Given the description of an element on the screen output the (x, y) to click on. 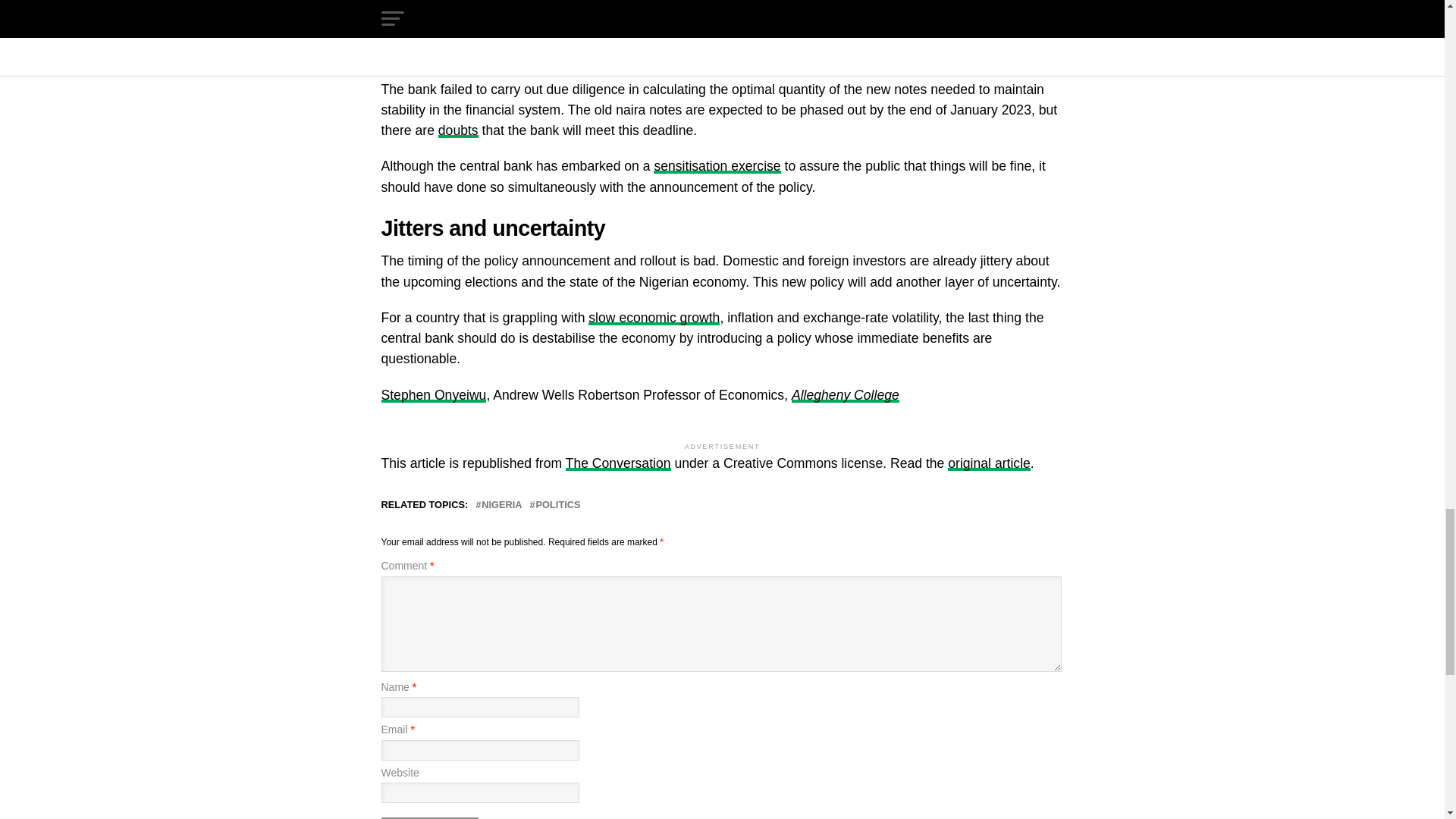
slow economic growth (653, 317)
POLITICS (557, 505)
Allegheny College (845, 394)
original article (988, 462)
NIGERIA (501, 505)
readily know (527, 32)
The Conversation (618, 462)
doubts (458, 130)
Post Comment (428, 818)
Stephen Onyeiwu (433, 394)
sensitisation exercise (716, 165)
Post Comment (428, 818)
